Given the description of an element on the screen output the (x, y) to click on. 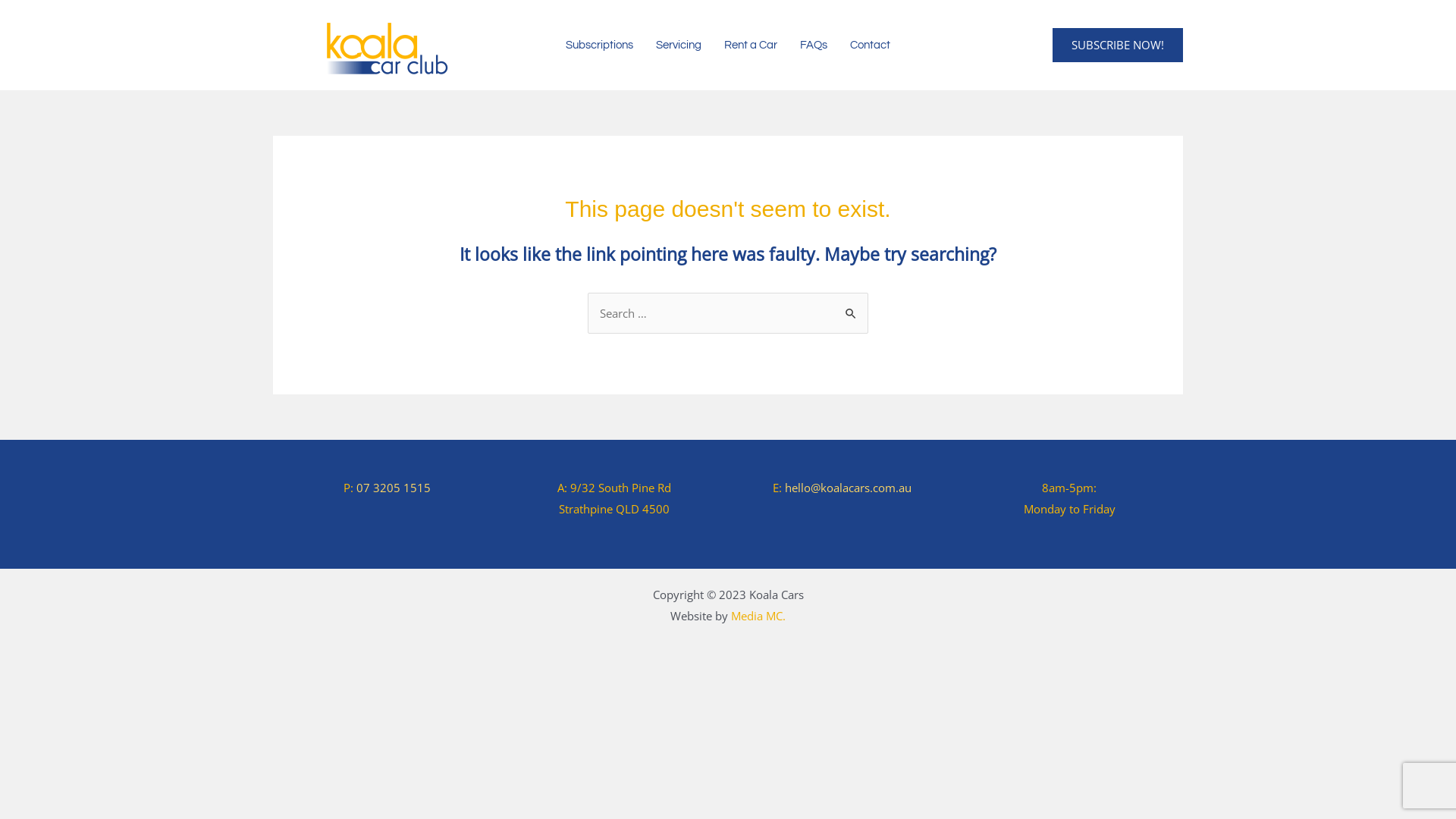
Search Element type: text (851, 307)
Subscriptions Element type: text (599, 44)
Rent a Car Element type: text (750, 44)
Contact Element type: text (869, 44)
Servicing Element type: text (678, 44)
Media MC. Element type: text (758, 615)
hello@koalacars.com.au Element type: text (847, 487)
FAQs Element type: text (813, 44)
SUBSCRIBE NOW! Element type: text (1117, 45)
07 3205 1515 Element type: text (393, 487)
